Given the description of an element on the screen output the (x, y) to click on. 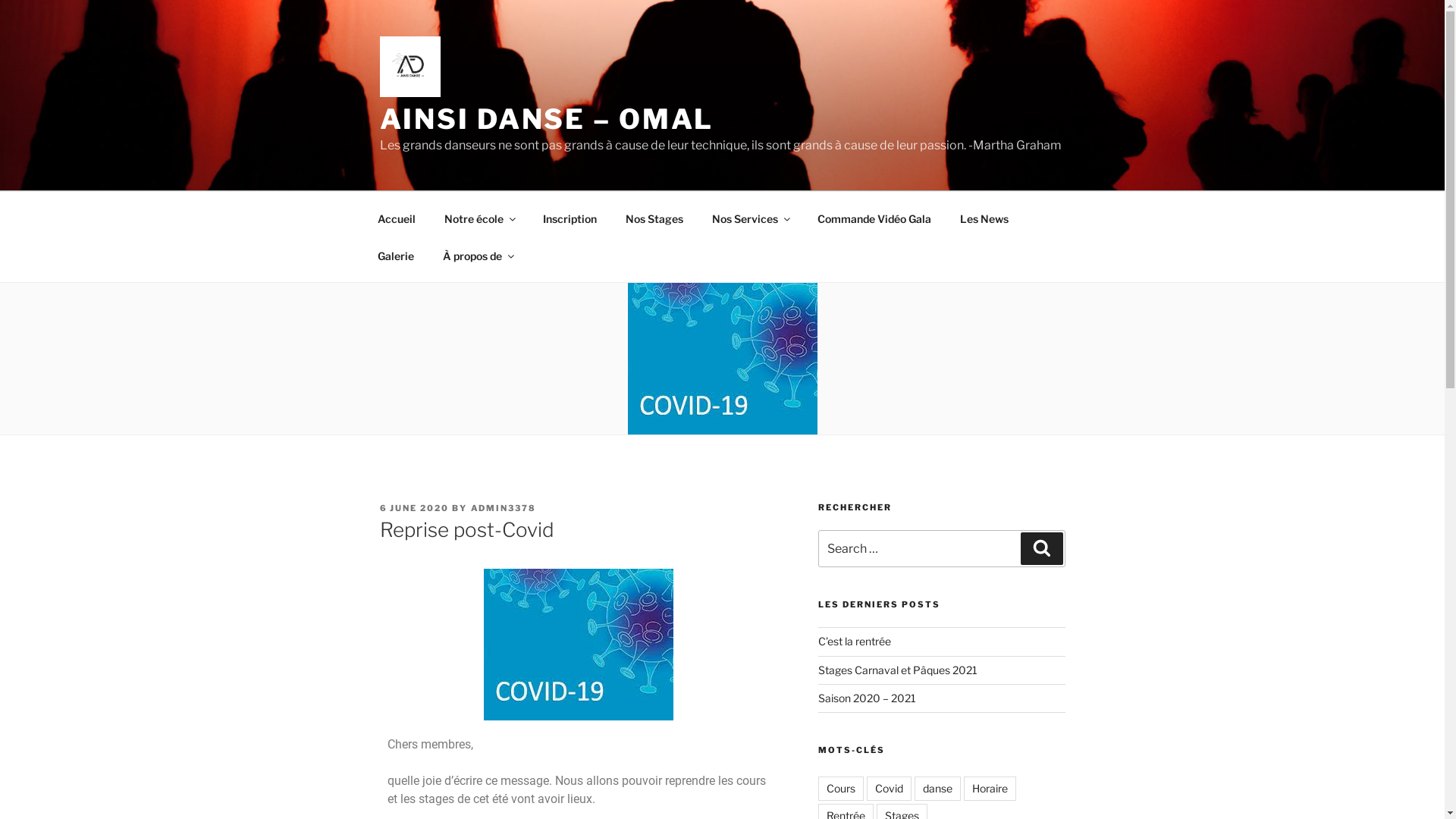
Nos Services Element type: text (750, 218)
Nos Stages Element type: text (654, 218)
Covid Element type: text (888, 788)
Cours Element type: text (840, 788)
ADMIN3378 Element type: text (503, 507)
danse Element type: text (937, 788)
Horaire Element type: text (989, 788)
Les News Element type: text (983, 218)
6 JUNE 2020 Element type: text (413, 507)
Inscription Element type: text (569, 218)
Galerie Element type: text (395, 254)
Accueil Element type: text (396, 218)
